Given the description of an element on the screen output the (x, y) to click on. 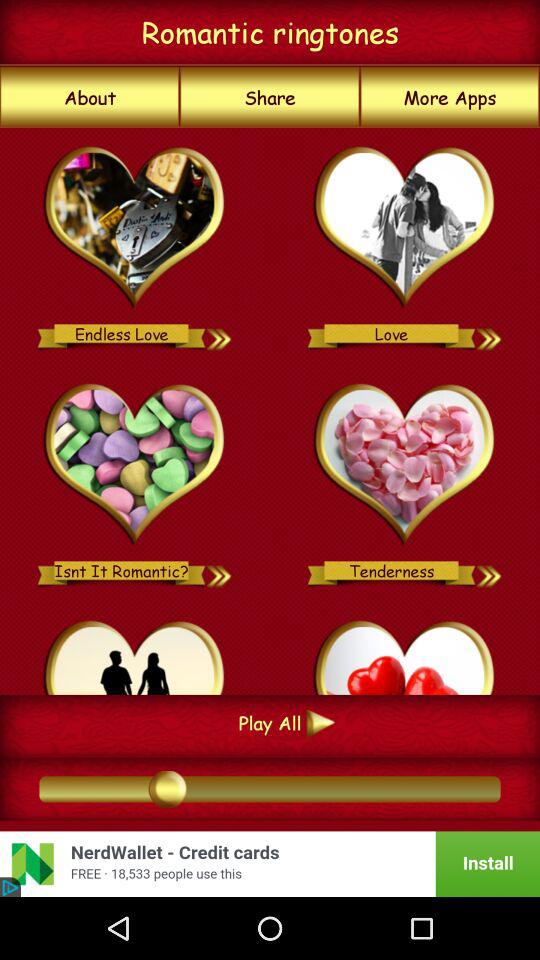
play ringtone (134, 465)
